Given the description of an element on the screen output the (x, y) to click on. 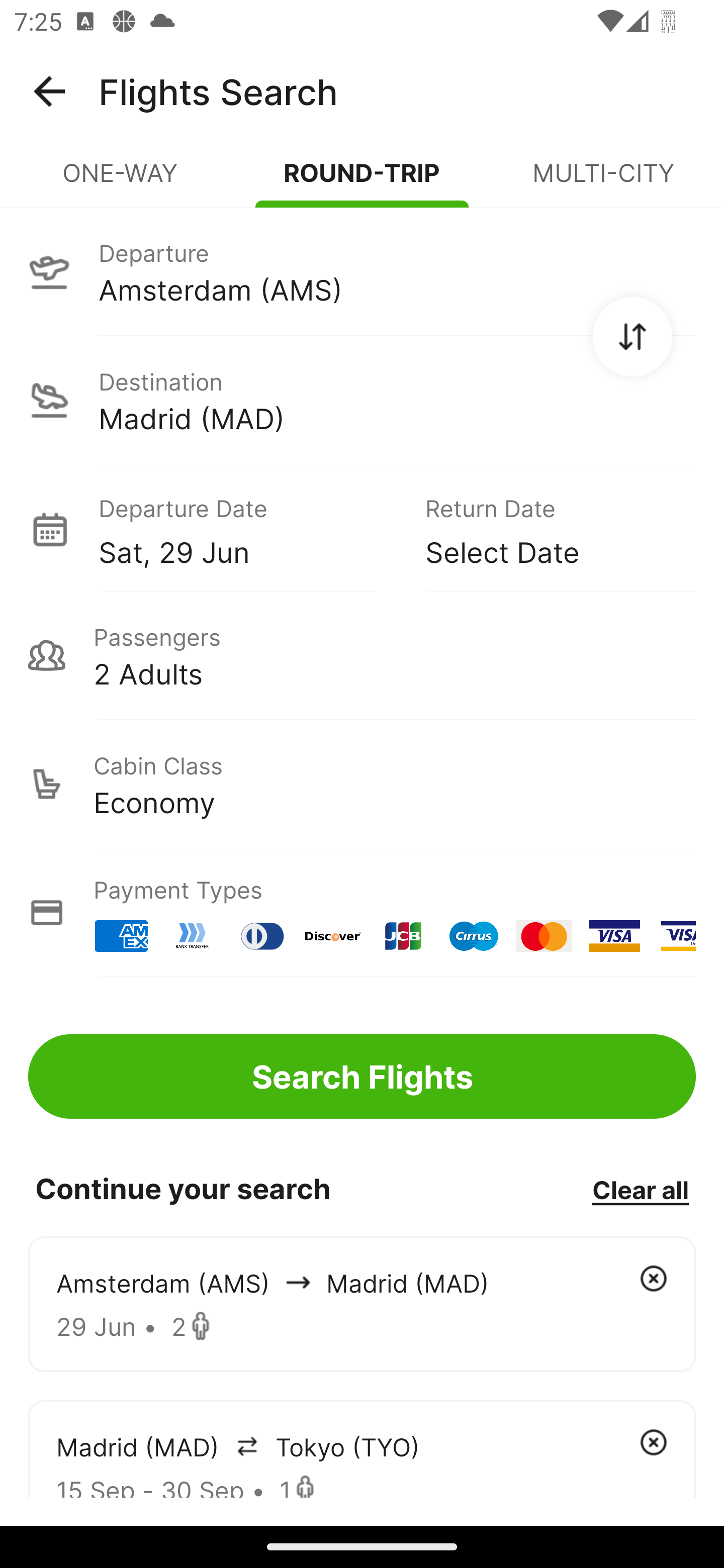
ONE-WAY (120, 180)
ROUND-TRIP (361, 180)
MULTI-CITY (603, 180)
Departure Amsterdam (AMS) (362, 270)
Destination Madrid (MAD) (362, 400)
Departure Date Sat, 29 Jun (247, 528)
Return Date Select Date (546, 528)
Passengers 2 Adults (362, 655)
Cabin Class Economy (362, 783)
Payment Types (362, 912)
Search Flights (361, 1075)
Clear all (640, 1189)
